Given the description of an element on the screen output the (x, y) to click on. 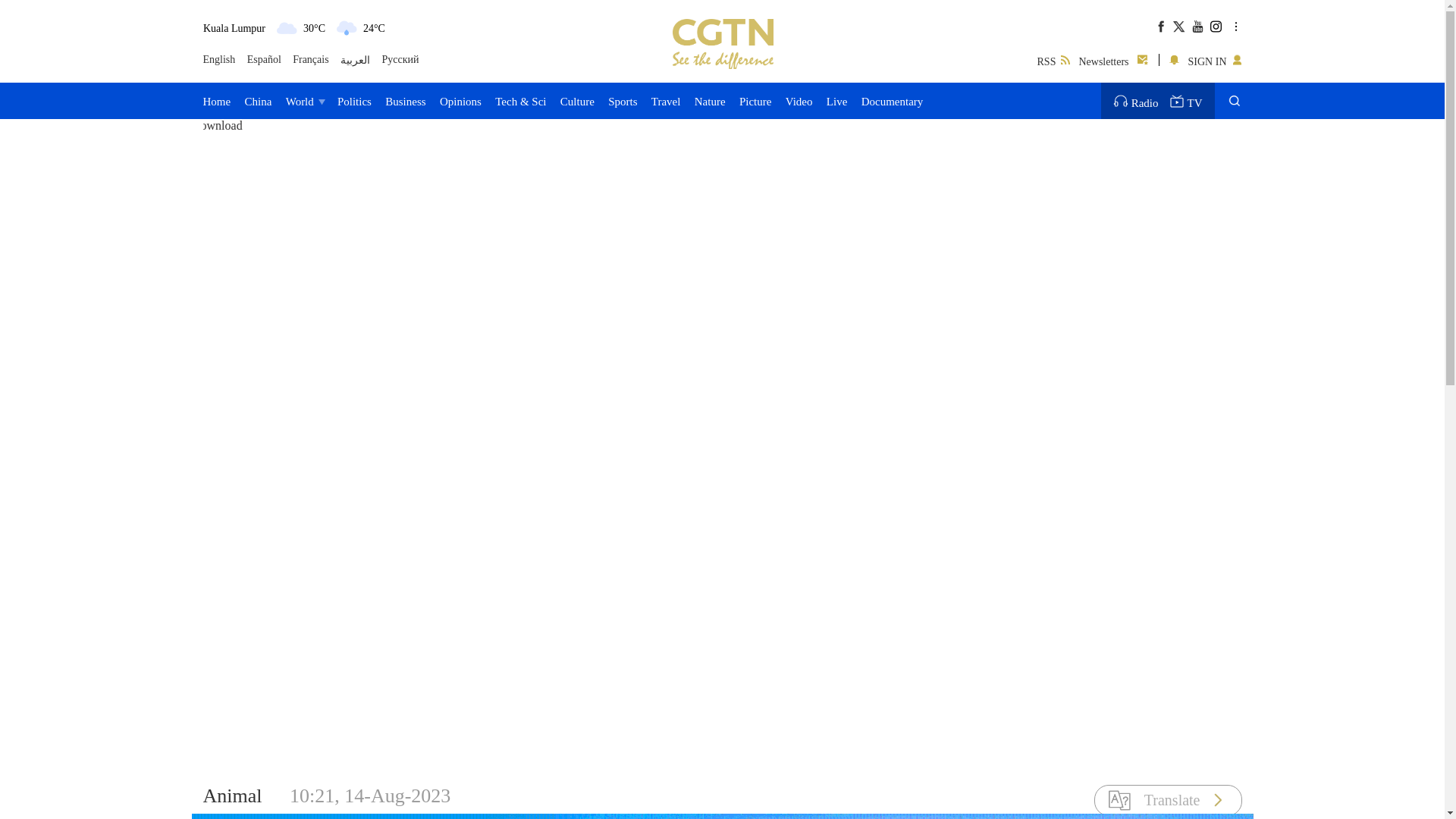
Opinions (460, 100)
English (219, 60)
Picture (755, 100)
Light rain (345, 27)
Business (405, 100)
Politics (354, 100)
RSS (1052, 59)
World (304, 100)
Newsletters (1114, 59)
Culture (577, 100)
